Given the description of an element on the screen output the (x, y) to click on. 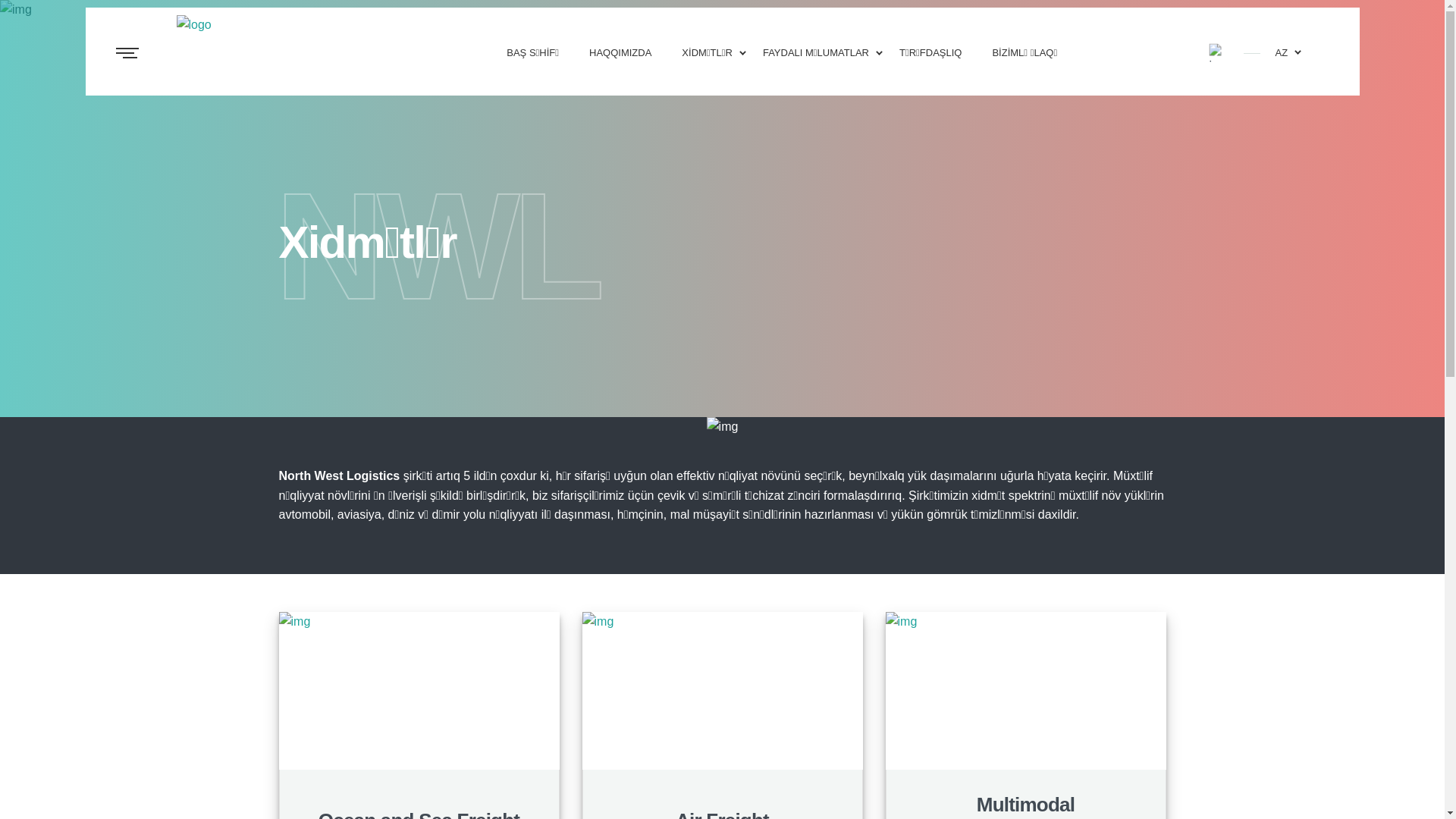
HAQQIMIZDA Element type: text (620, 51)
